Given the description of an element on the screen output the (x, y) to click on. 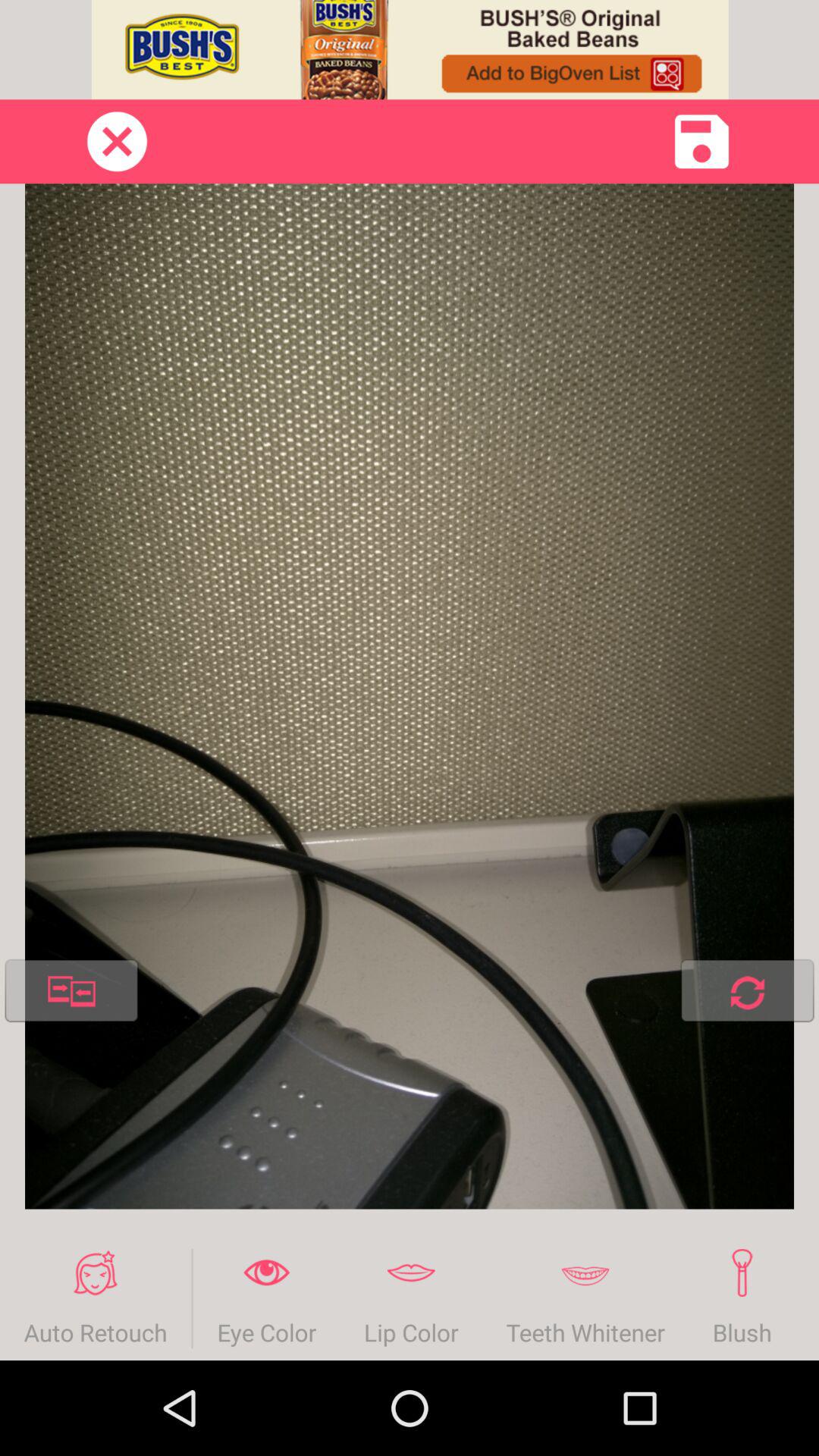
turn off the item to the right of the compare (747, 994)
